Given the description of an element on the screen output the (x, y) to click on. 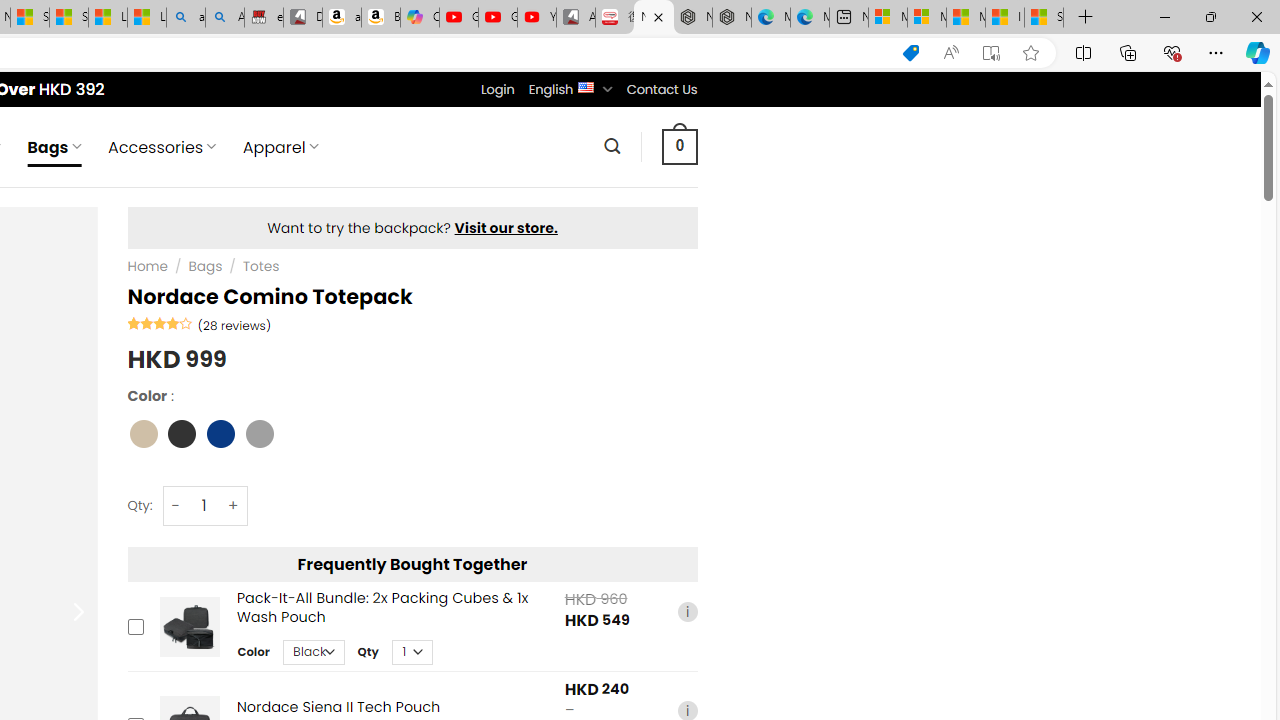
Rated 4.07 out of 5 (160, 322)
i (687, 611)
Bags (205, 267)
English (586, 86)
amazon - Search (185, 17)
Visit our store. (506, 228)
+ (234, 505)
Microsoft Start (966, 17)
Enter Immersive Reader (F9) (991, 53)
YouTube Kids - An App Created for Kids to Explore Content (536, 17)
